Given the description of an element on the screen output the (x, y) to click on. 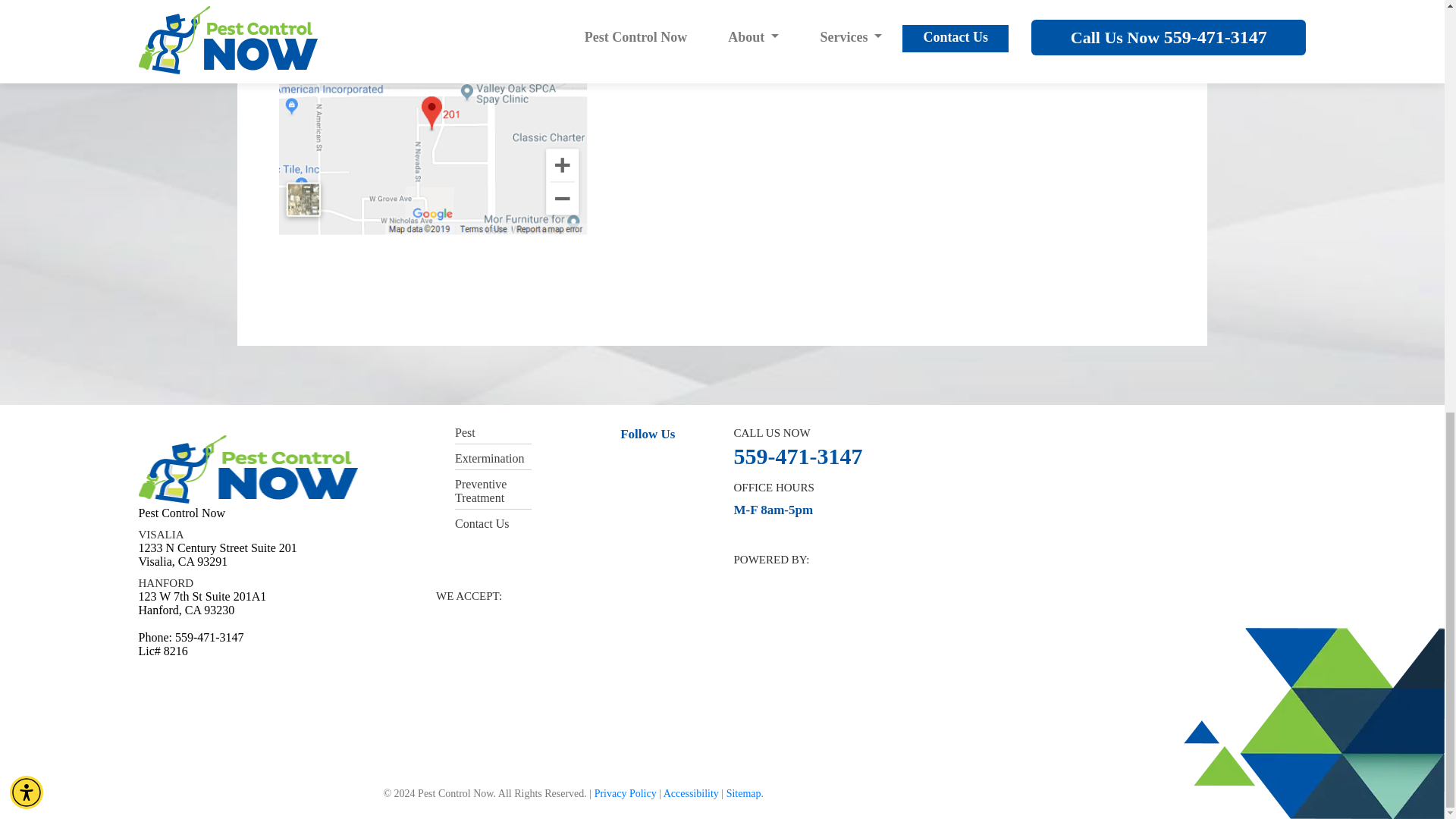
Sitemap (743, 793)
Pest (465, 431)
Accessibility (691, 793)
Contact Us (702, 50)
559-471-3147 (797, 455)
Privacy Policy (625, 793)
Contact Us (481, 522)
Preventive Treatment (480, 490)
Contact Us (702, 50)
Extermination (489, 458)
